Given the description of an element on the screen output the (x, y) to click on. 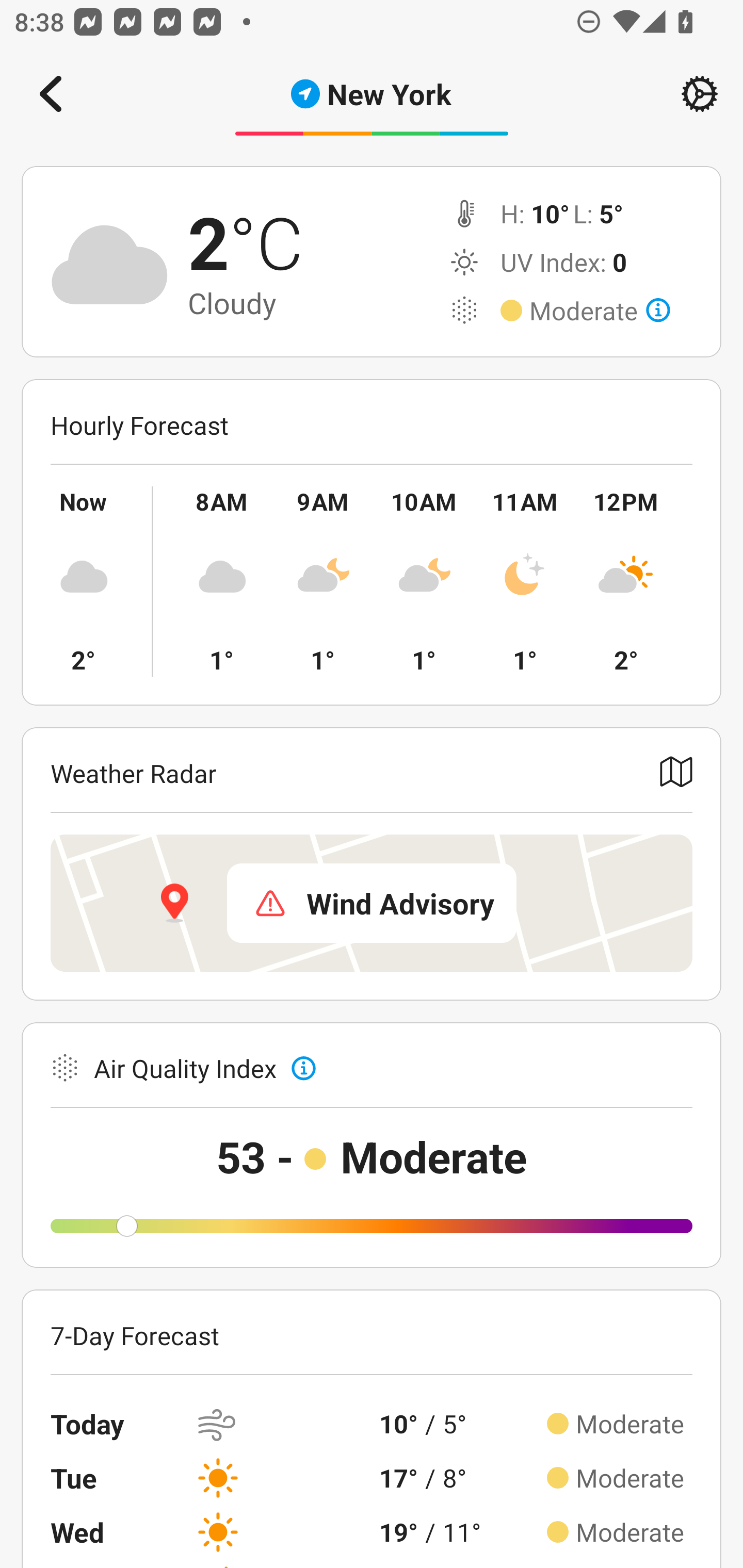
Navigate up (50, 93)
Setting (699, 93)
Moderate (599, 310)
Wind Advisory (371, 903)
